Given the description of an element on the screen output the (x, y) to click on. 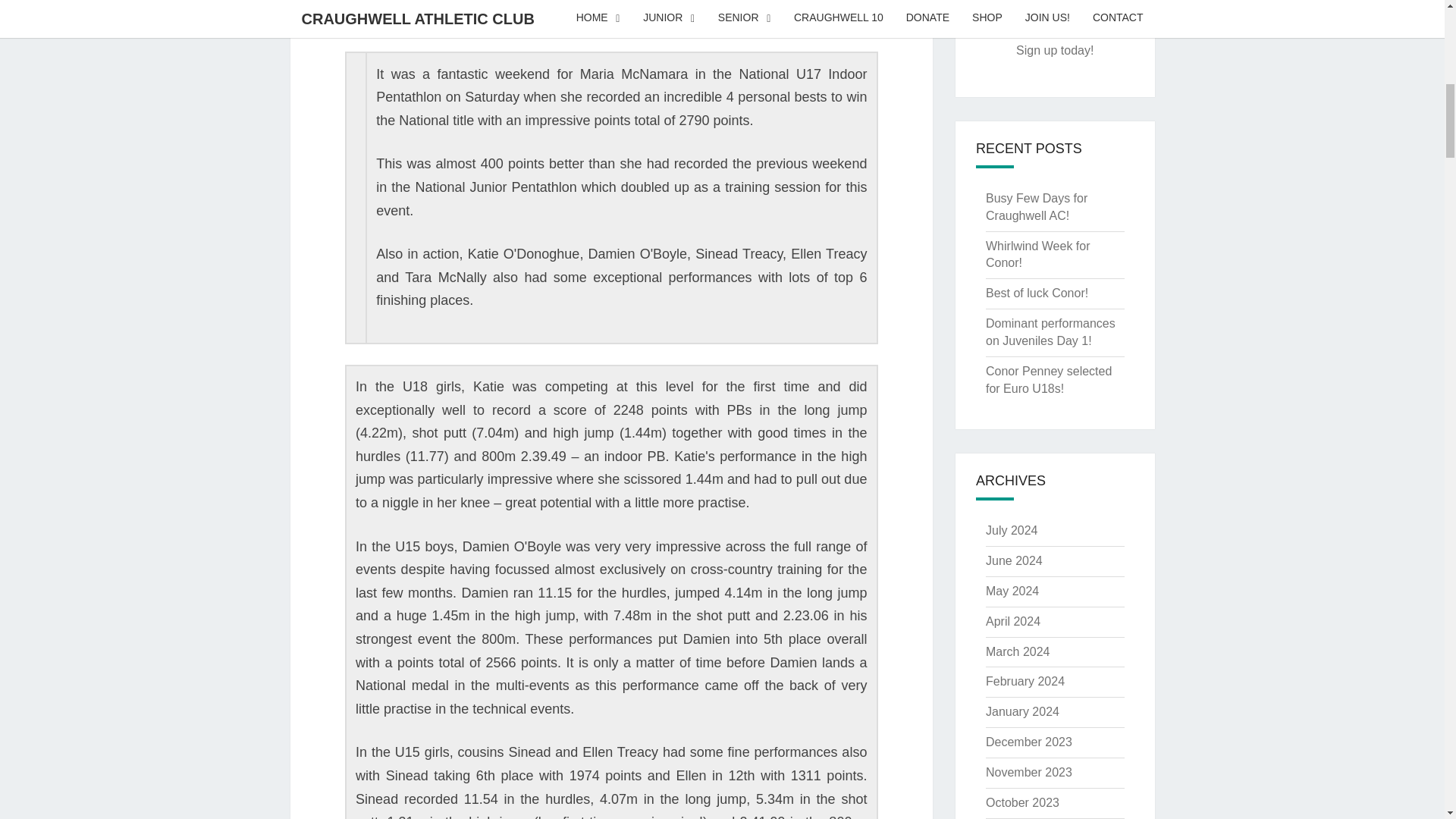
6:51 pm (577, 10)
View all posts by Mike Tobin (676, 10)
Mike Tobin (676, 10)
January 30, 2011 (577, 10)
